Given the description of an element on the screen output the (x, y) to click on. 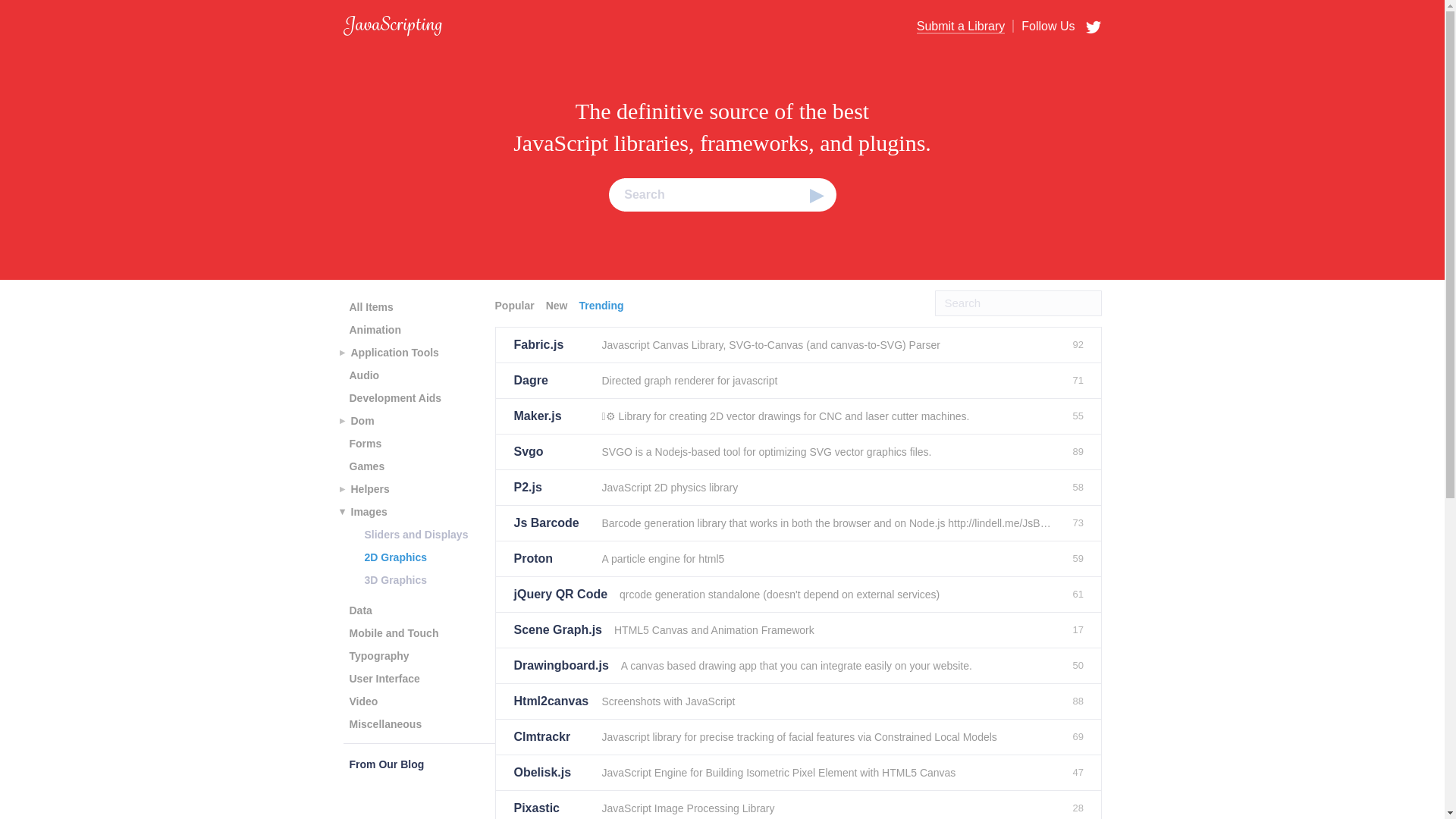
Forms (364, 443)
Typography (378, 655)
2D Graphics (395, 557)
New (559, 305)
Follow Us (1042, 25)
Games (366, 466)
P2.js (551, 487)
Js Barcode (551, 523)
Miscellaneous (385, 723)
Video (363, 701)
